Given the description of an element on the screen output the (x, y) to click on. 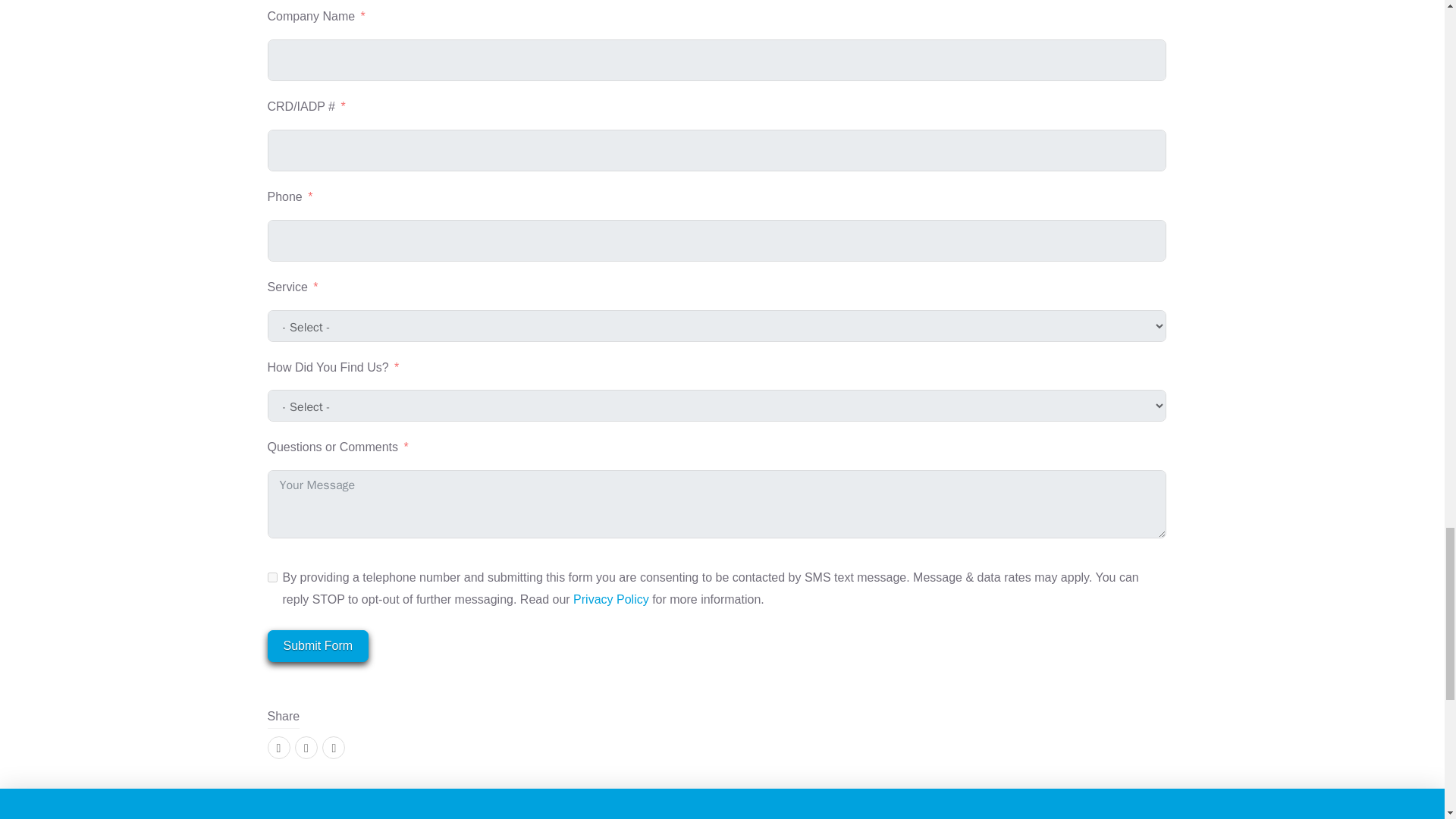
on (271, 576)
Twitter (306, 747)
LinkedIn (333, 747)
Facebook (277, 747)
